Given the description of an element on the screen output the (x, y) to click on. 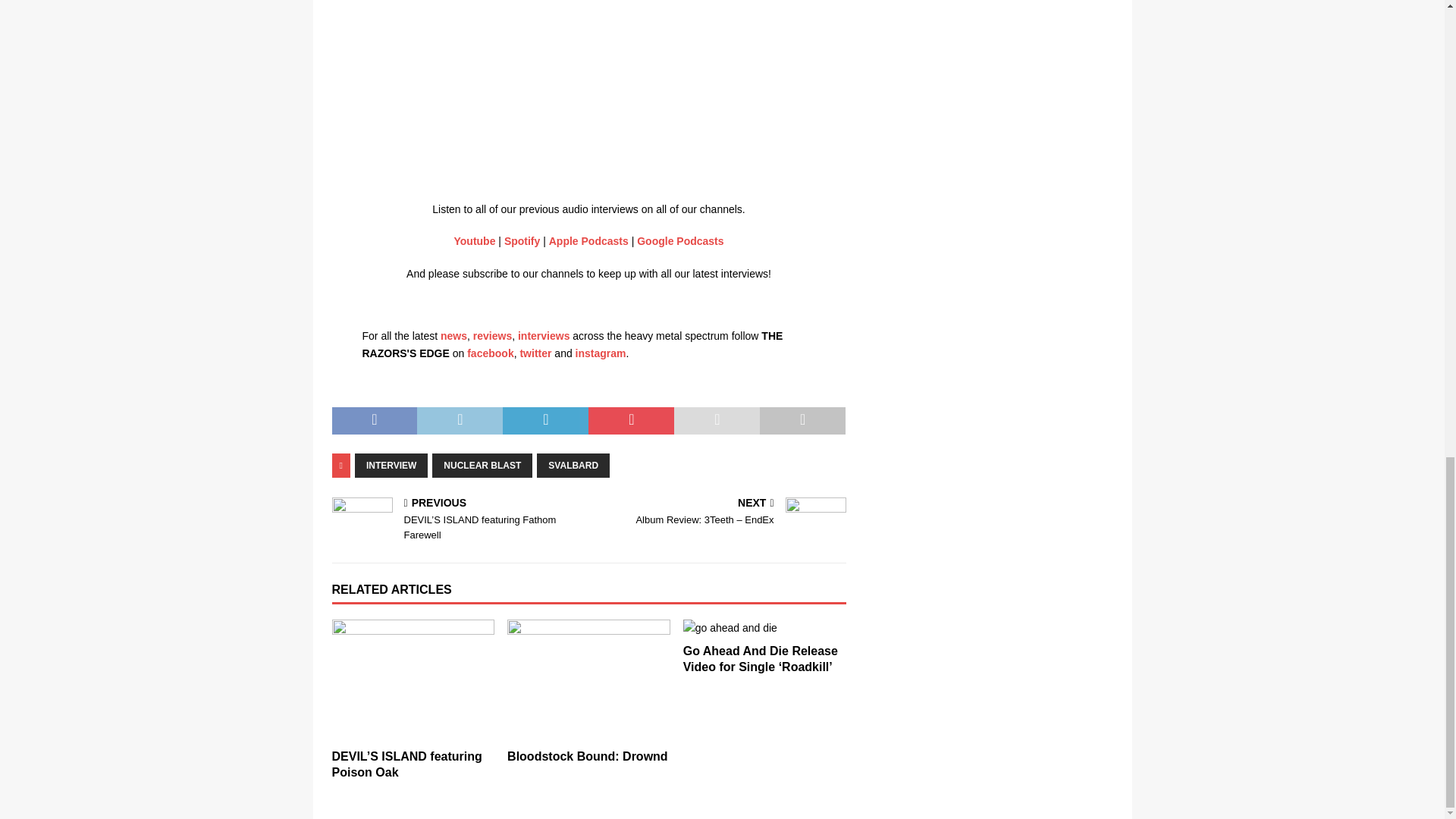
YouTube video player (574, 83)
facebook (490, 353)
reviews (492, 336)
Bloodstock Bound: Drownd (587, 756)
Apple Podcasts (588, 241)
twitter (535, 353)
Youtube (473, 241)
news (454, 336)
Google Podcasts (680, 241)
instagram (600, 353)
